Given the description of an element on the screen output the (x, y) to click on. 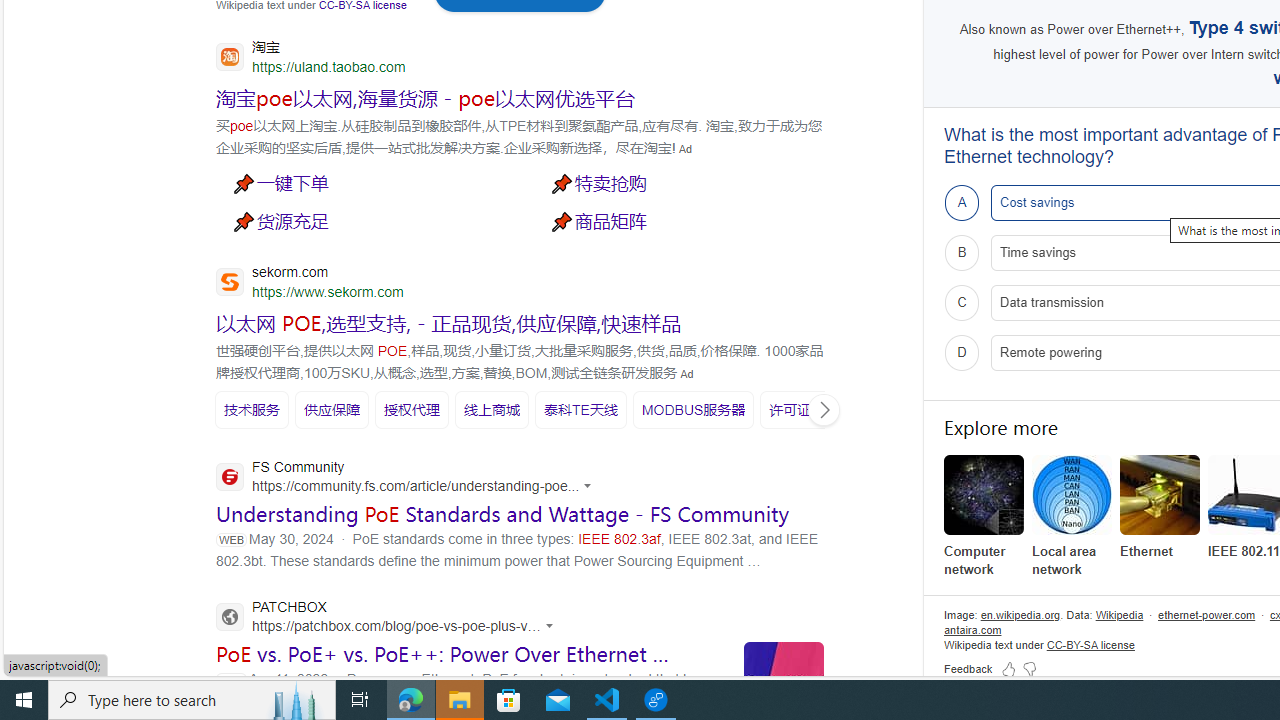
Feedback Dislike (1029, 668)
Ethernet (1160, 494)
SERP,5932 (804, 409)
SERP,5932 (804, 409)
SERP,5928 (412, 409)
SERP,5926 (252, 409)
Local area network (1071, 494)
FS Community (409, 478)
Global web icon (229, 616)
SERP,5923 (449, 323)
